Given the description of an element on the screen output the (x, y) to click on. 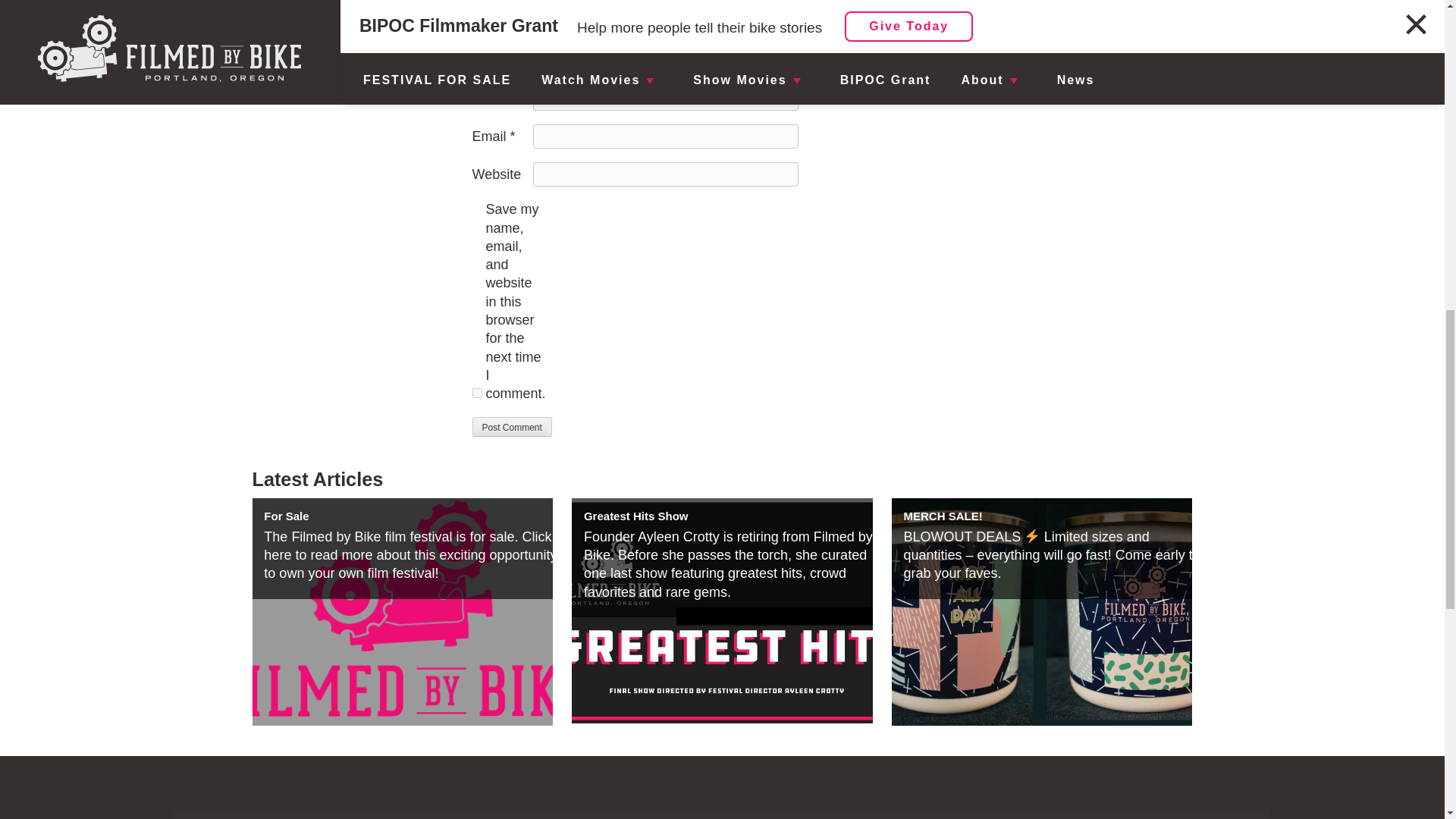
Post Comment (511, 426)
yes (476, 393)
For Sale (285, 515)
MERCH SALE! (943, 515)
Greatest Hits Show (635, 515)
Post Comment (511, 426)
